Given the description of an element on the screen output the (x, y) to click on. 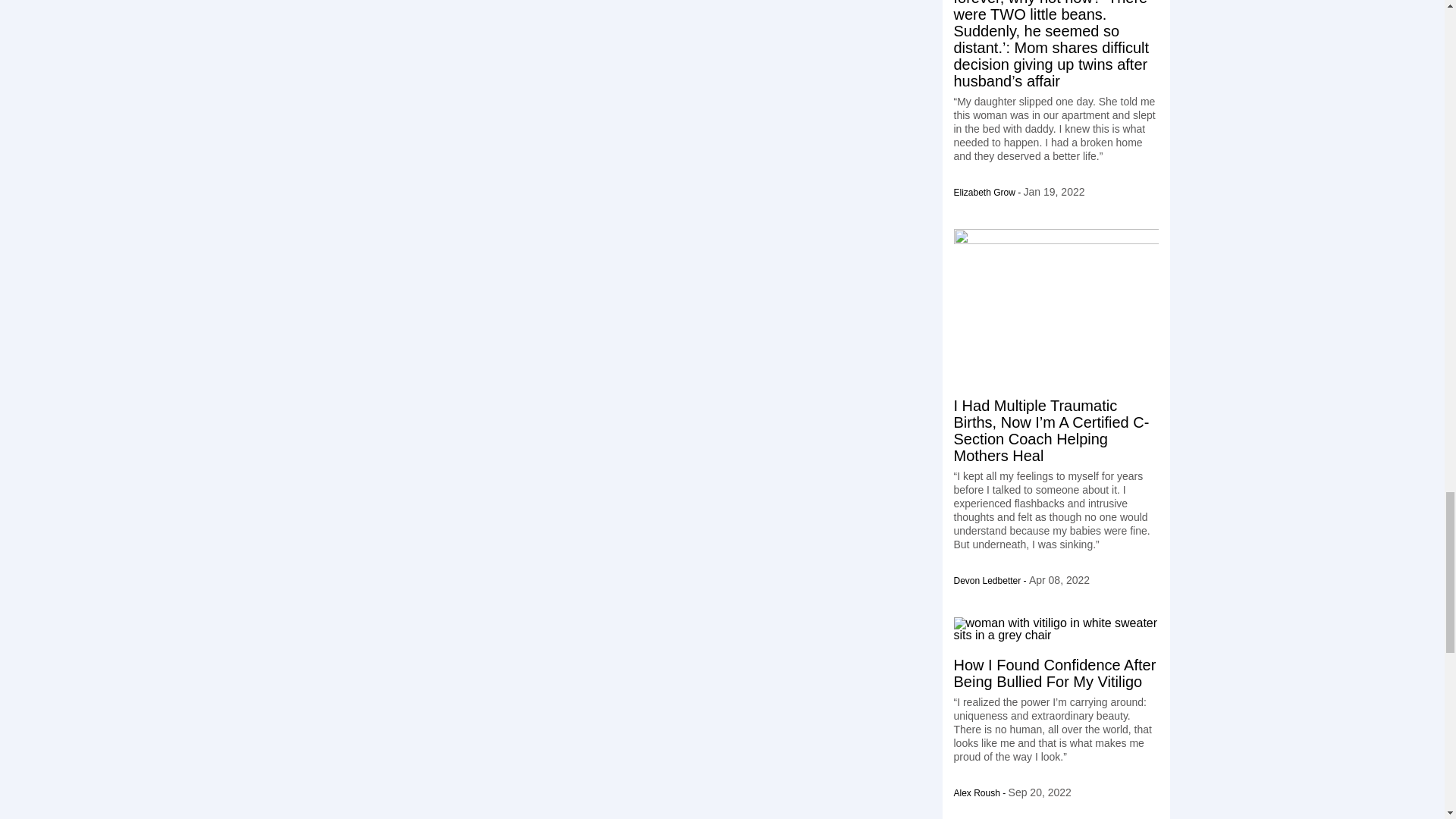
September 20, 2022 (1040, 792)
January 19, 2022 (1053, 191)
April 8, 2022 (1059, 580)
